Given the description of an element on the screen output the (x, y) to click on. 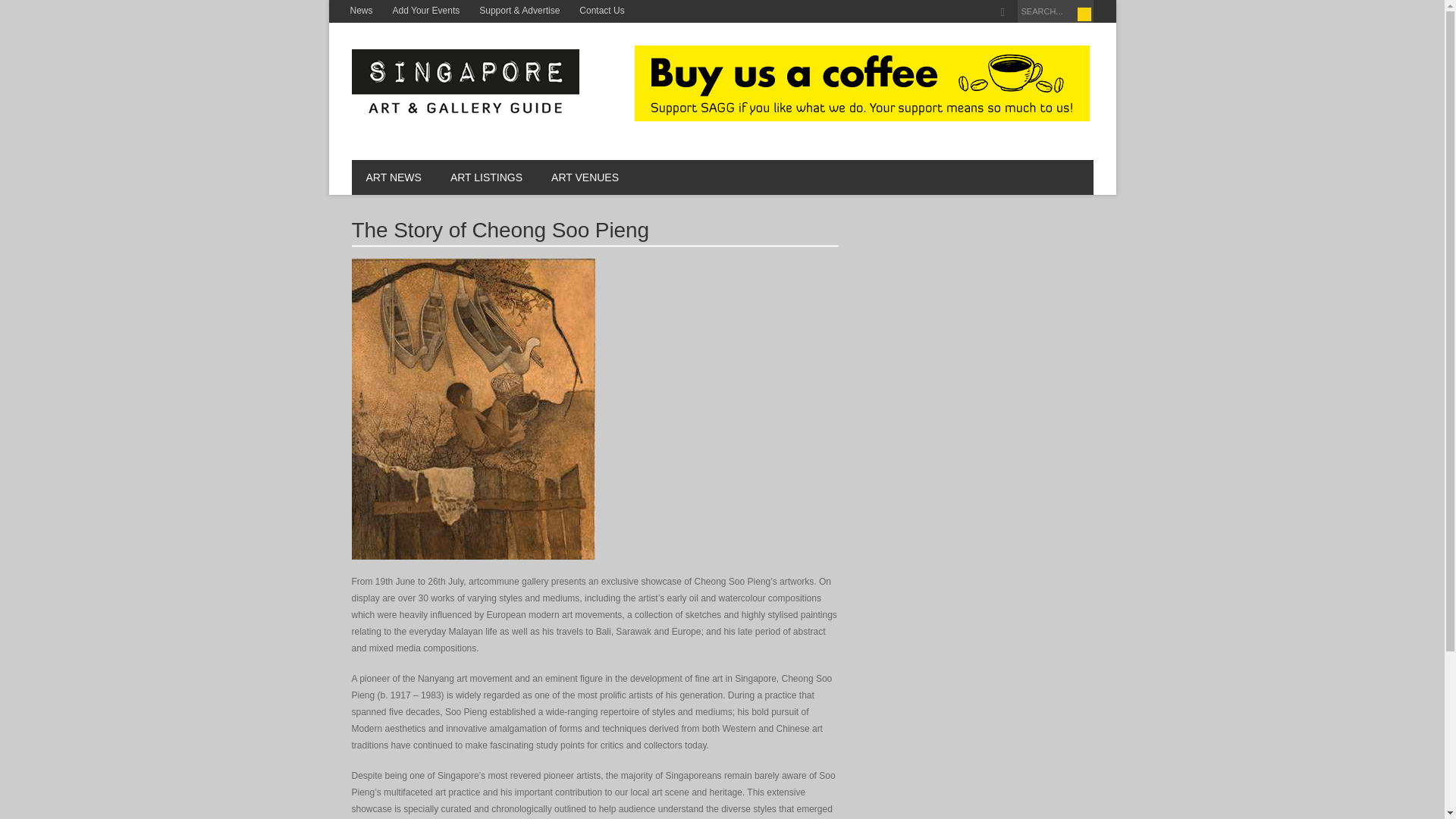
ART LISTINGS (486, 176)
Contact Us (601, 11)
Search (1083, 14)
SEARCH... (1055, 11)
ART NEWS (393, 176)
Search (1083, 14)
Add Your Events (426, 11)
ART VENUES (585, 176)
Facebook (1002, 11)
News (360, 11)
